Given the description of an element on the screen output the (x, y) to click on. 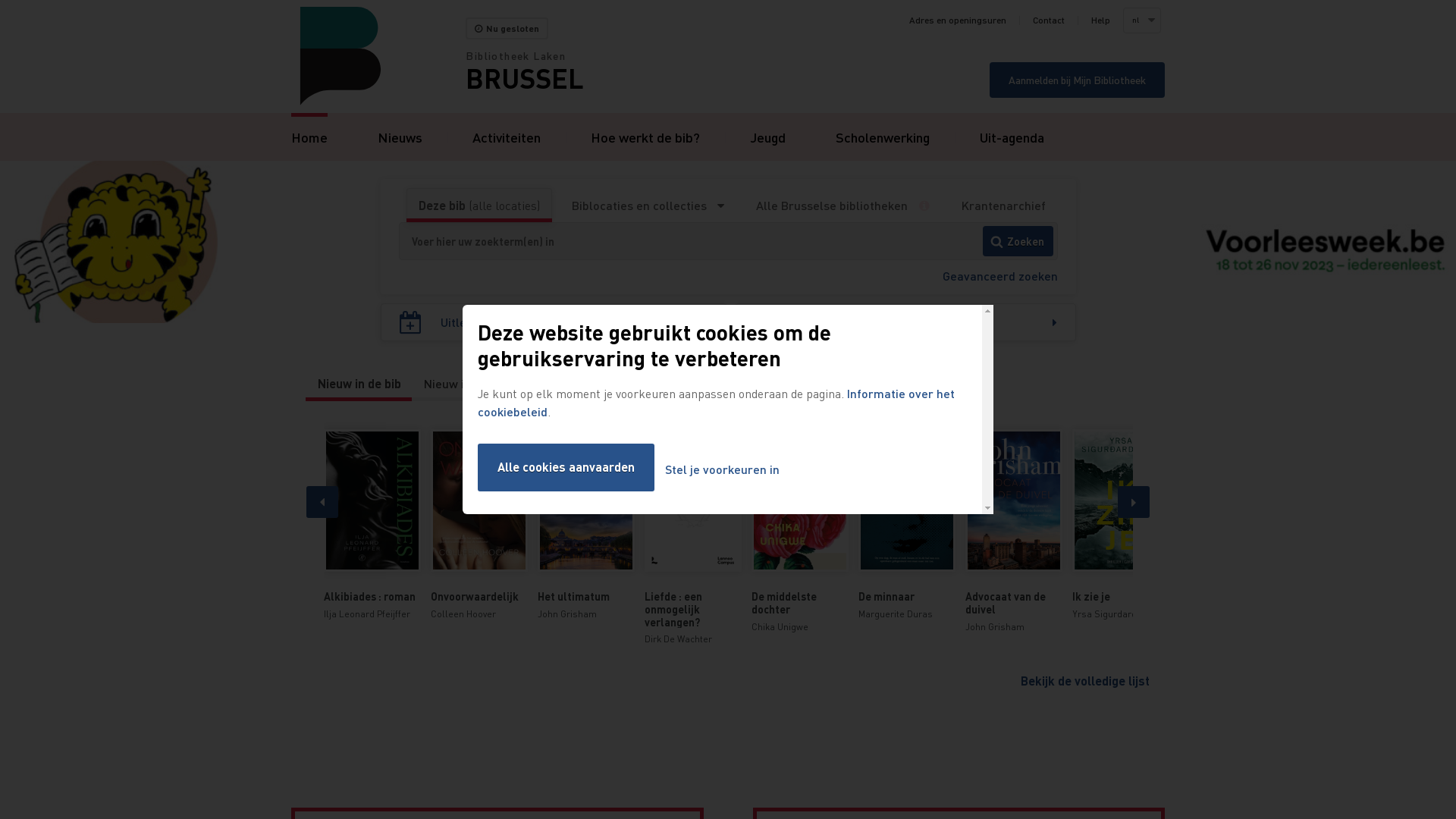
Alle Brusselse bibliotheken Element type: text (831, 205)
Biblocaties en collecties Element type: text (646, 205)
nl Element type: text (1140, 20)
Geavanceerd zoeken Element type: text (999, 275)
Home Element type: text (309, 136)
Bekijk de volledige lijst Element type: text (1084, 680)
Home Element type: hover (378, 55)
Krantenarchief Element type: text (1002, 205)
Uitleentermijn verlengen Element type: text (553, 322)
Overslaan en naar zoeken gaan Element type: text (0, 0)
Liefde : een onmogelijk verlangen?
Dirk De Wachter Element type: text (692, 537)
Onvoorwaardelijk
Colleen Hoover Element type: text (478, 525)
De middelste dochter
Chika Unigwe Element type: text (798, 531)
Scholenwerking Element type: text (882, 136)
Help Element type: text (1100, 20)
Nu gesloten Element type: text (506, 28)
Informatie over het cookiebeleid Element type: text (715, 402)
Nieuwe dvd's Element type: text (596, 383)
Stel je voorkeuren in Element type: text (722, 469)
Adres en openingsuren Element type: text (957, 20)
Aanmelden bij Mijn Bibliotheek Element type: text (1076, 79)
Meer informatie Element type: hover (930, 205)
Het ultimatum
John Grisham Element type: text (584, 525)
Jeugd Element type: text (767, 136)
Zoeken Element type: text (1017, 240)
Activiteiten Element type: text (506, 136)
Nieuw in de jeugdbib Element type: text (480, 383)
Alkibiades : roman
Ilja Leonard Pfeijffer Element type: text (371, 525)
Alle cookies aanvaarden Element type: text (565, 466)
Advocaat van de duivel
John Grisham Element type: text (1012, 531)
Nieuws Element type: text (399, 136)
Openingsuren opzoeken Element type: text (905, 322)
Hoe werkt de bib? Element type: text (644, 136)
Contact Element type: text (1048, 20)
Nieuw in de bib Element type: text (359, 383)
De minnaar
Marguerite Duras Element type: text (906, 525)
Deze bib (alle locaties) Element type: text (478, 205)
Uit-agenda Element type: text (1011, 136)
